Given the description of an element on the screen output the (x, y) to click on. 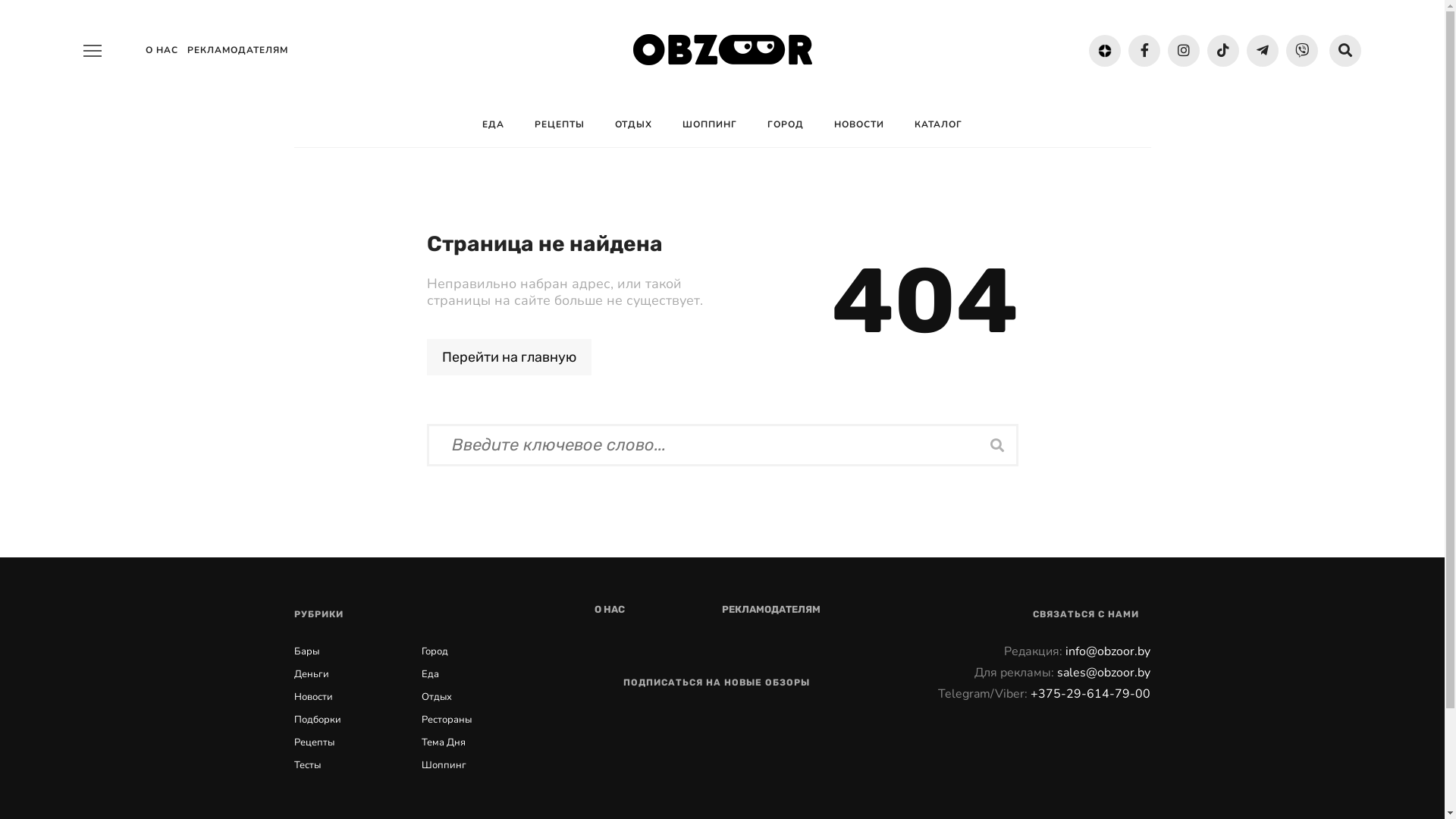
info@obzoor.by Element type: text (1107, 651)
sales@obzoor.by Element type: text (1103, 672)
off canvas button Element type: hover (92, 50)
search Element type: hover (1345, 50)
+375-29-614-79-00 Element type: text (1090, 693)
